Given the description of an element on the screen output the (x, y) to click on. 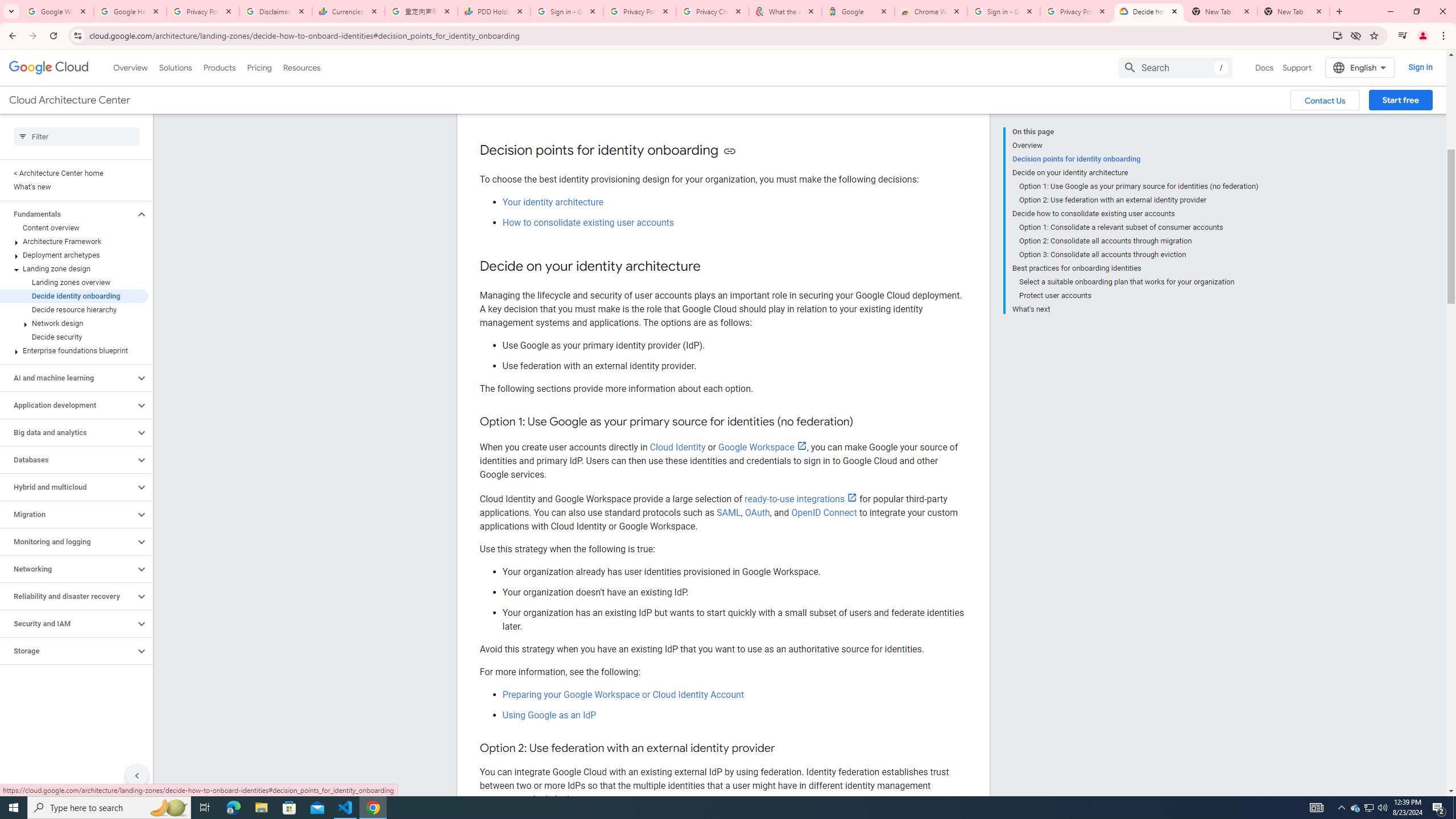
Preparing your Google Workspace or Cloud Identity Account (623, 694)
Storage (67, 650)
Google Workspace Admin Community (57, 11)
ready-to-use integrations (800, 498)
OAuth (757, 512)
Network design (74, 323)
Products (218, 67)
Decide security (74, 336)
Protect user accounts (1138, 295)
Hybrid and multicloud (67, 486)
